Given the description of an element on the screen output the (x, y) to click on. 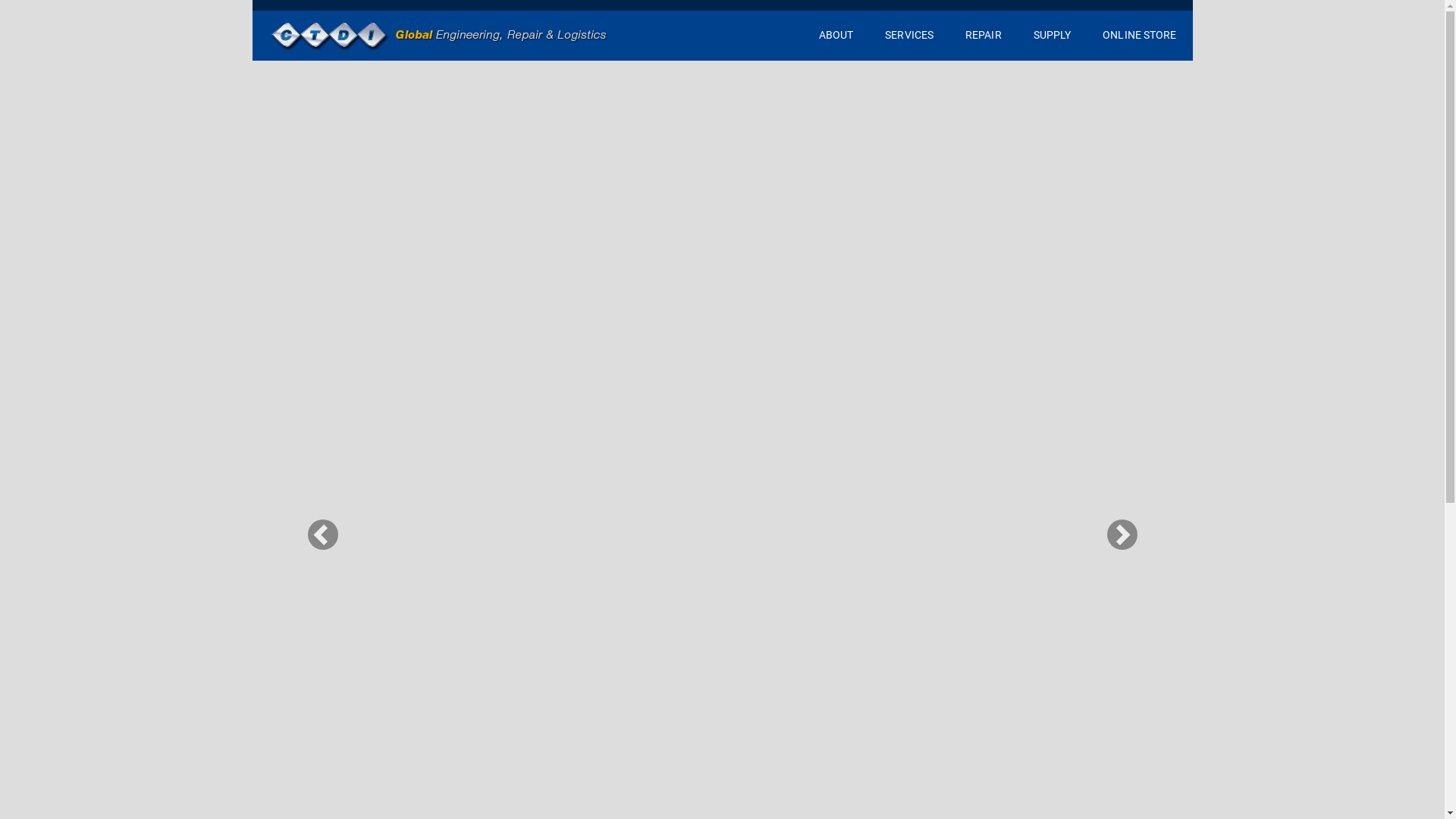
ONLINE STORE Element type: text (1139, 35)
SERVICES Element type: text (909, 35)
REPAIR Element type: text (983, 35)
   Element type: text (438, 34)
ABOUT Element type: text (836, 35)
SUPPLY Element type: text (1052, 35)
